Given the description of an element on the screen output the (x, y) to click on. 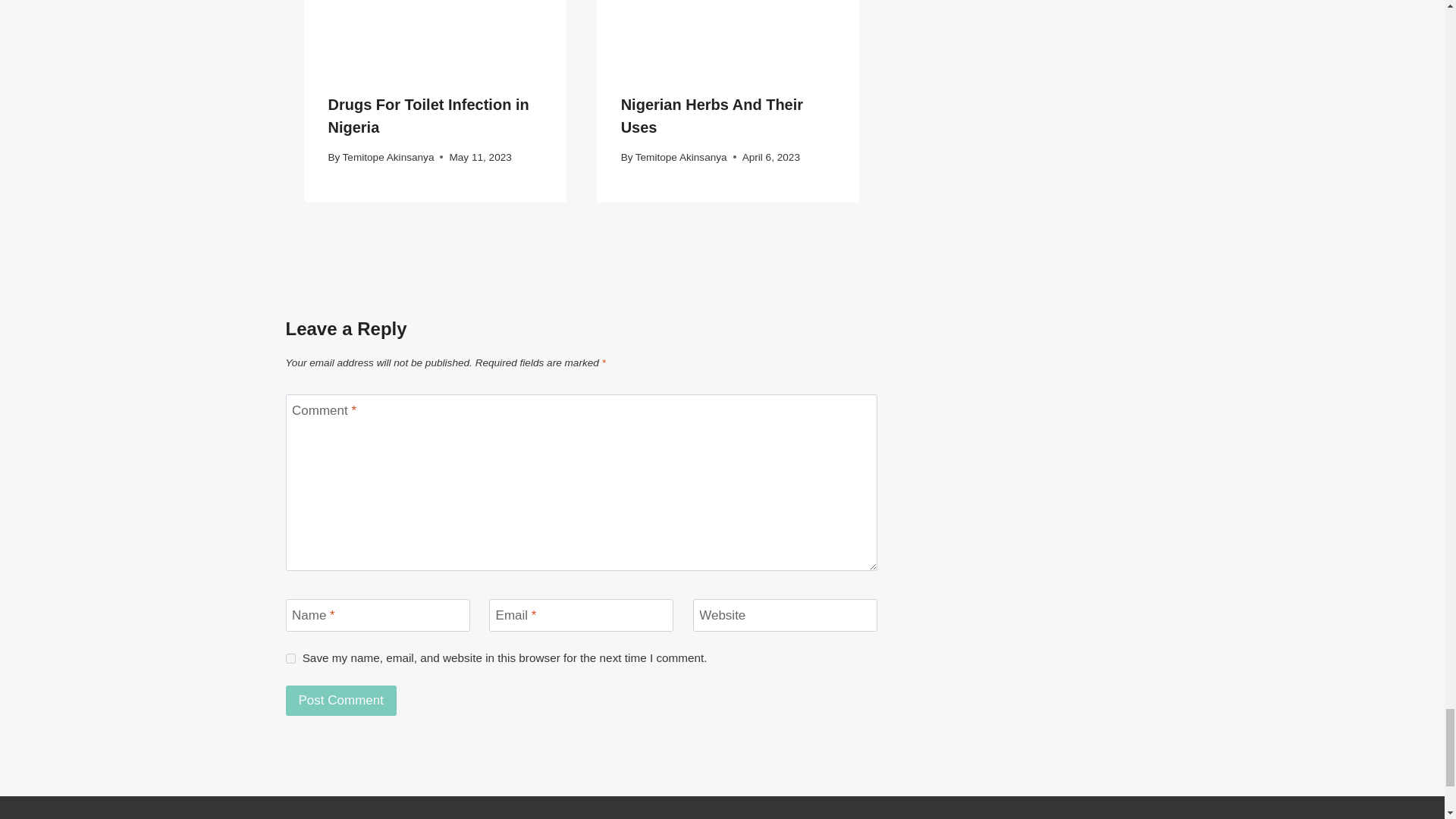
Post Comment (340, 700)
yes (290, 658)
Drugs For Toilet Infection in Nigeria  (427, 115)
